Given the description of an element on the screen output the (x, y) to click on. 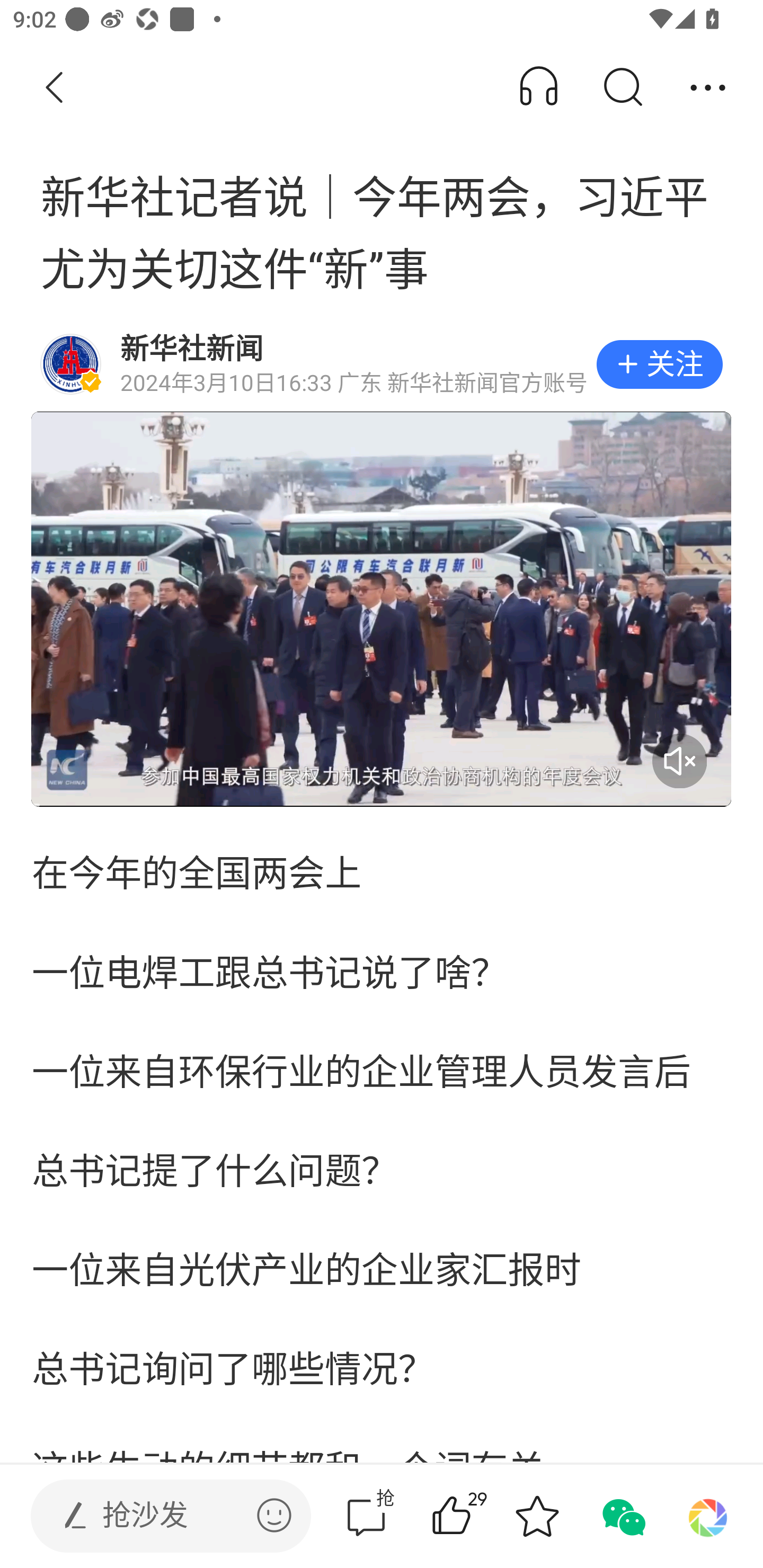
搜索  (622, 87)
分享  (707, 87)
 返回 (54, 87)
新华社新闻 2024年3月10日16:33 广东 新华社新闻官方账号  关注 (381, 364)
 关注 (659, 364)
08:14 (381, 608)
音量开关 (679, 760)
发表评论  抢沙发 发表评论  (155, 1516)
抢评论  抢 评论 (365, 1516)
29赞 (476, 1516)
收藏  (536, 1516)
分享到微信  (622, 1516)
分享到朋友圈 (707, 1516)
 (274, 1515)
